Given the description of an element on the screen output the (x, y) to click on. 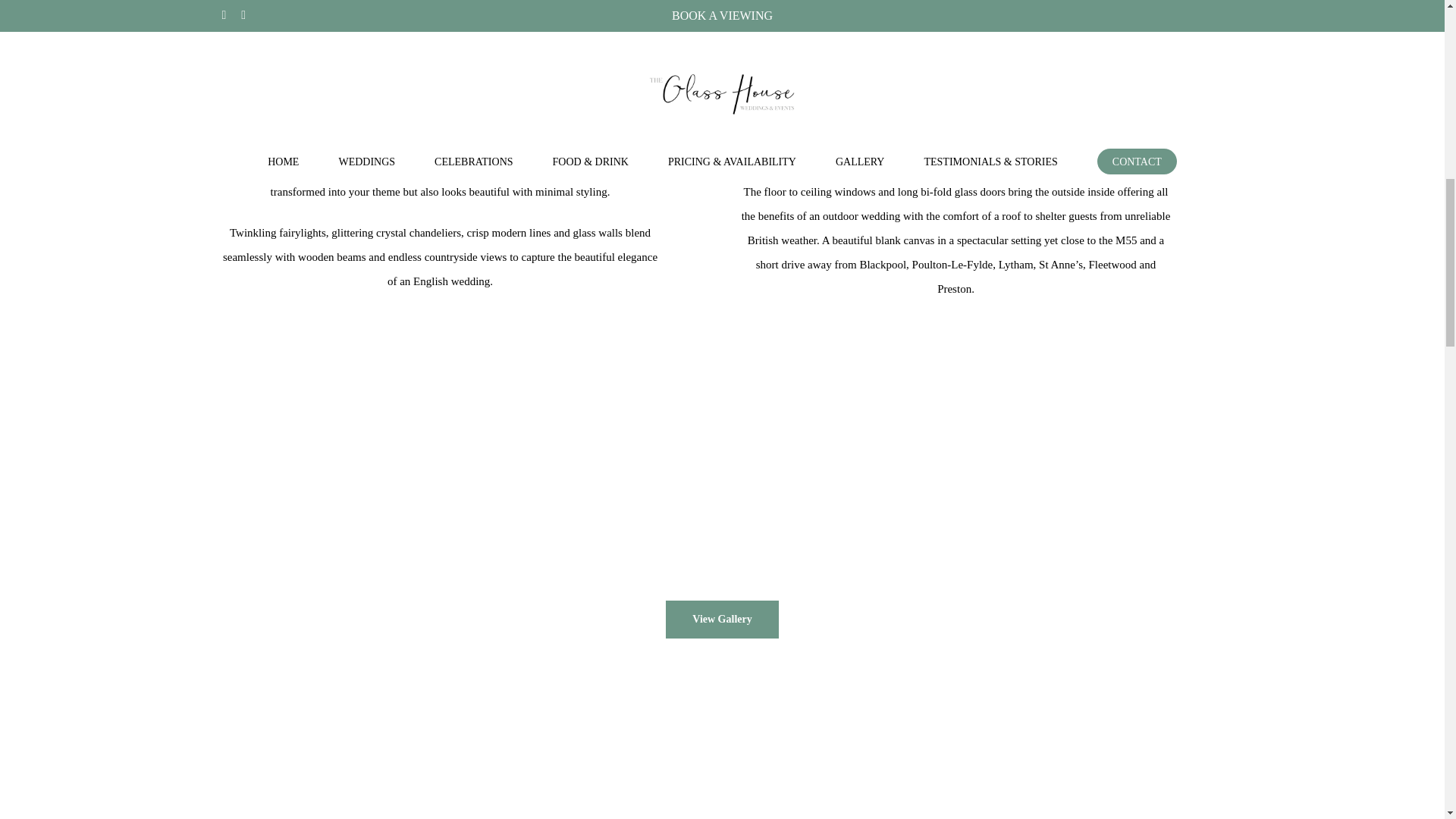
View Gallery (721, 619)
The Glass House (272, 101)
